Given the description of an element on the screen output the (x, y) to click on. 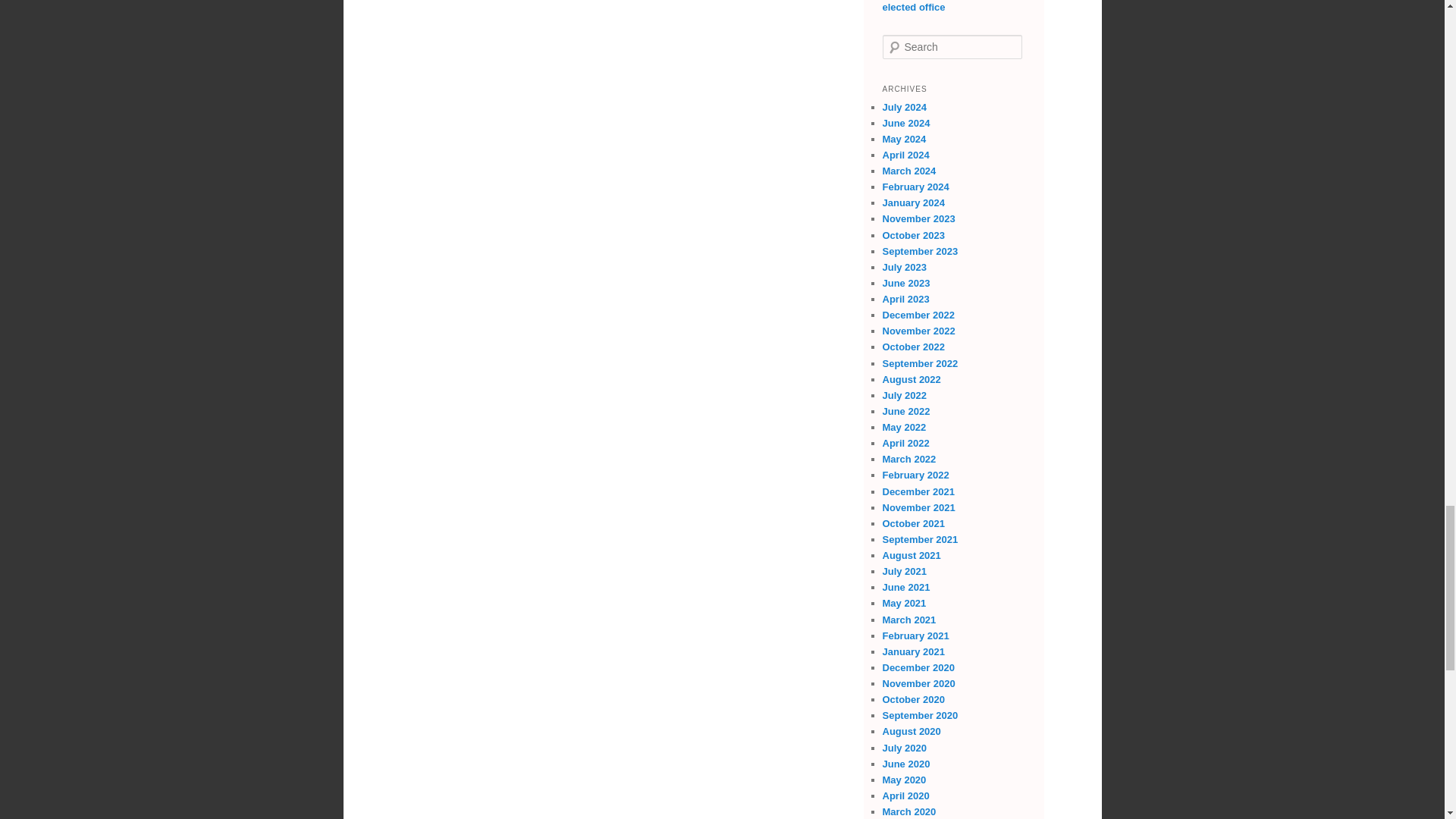
May 2024 (904, 138)
October 2023 (913, 234)
September 2023 (920, 251)
July 2023 (904, 266)
March 2024 (909, 170)
February 2024 (915, 186)
January 2024 (913, 202)
June 2023 (906, 283)
April 2024 (906, 154)
June 2024 (906, 122)
November 2023 (918, 218)
July 2024 (904, 107)
